Given the description of an element on the screen output the (x, y) to click on. 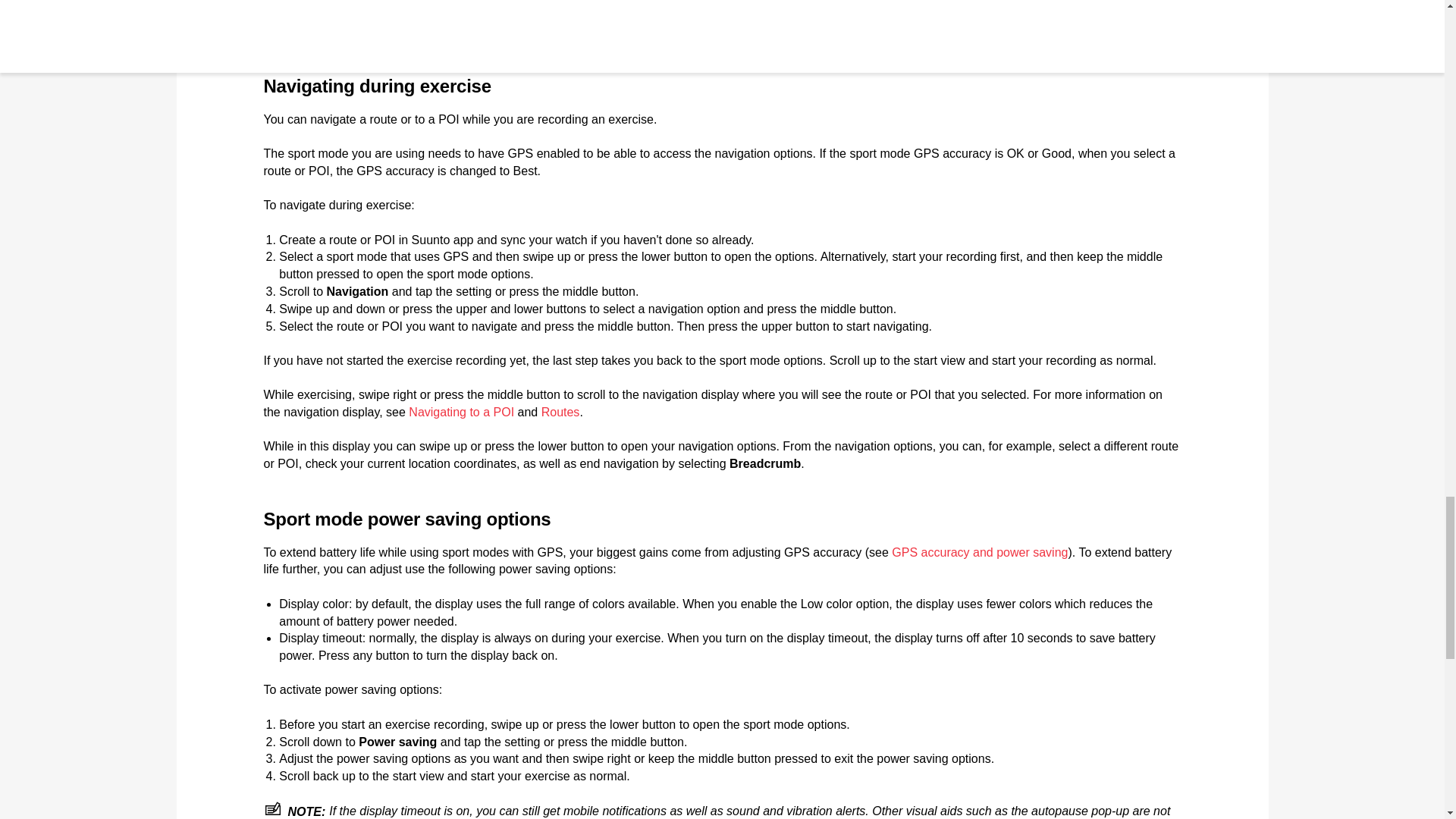
Navigating to a POI (461, 411)
Routes (560, 411)
GPS accuracy and power saving (979, 552)
